Given the description of an element on the screen output the (x, y) to click on. 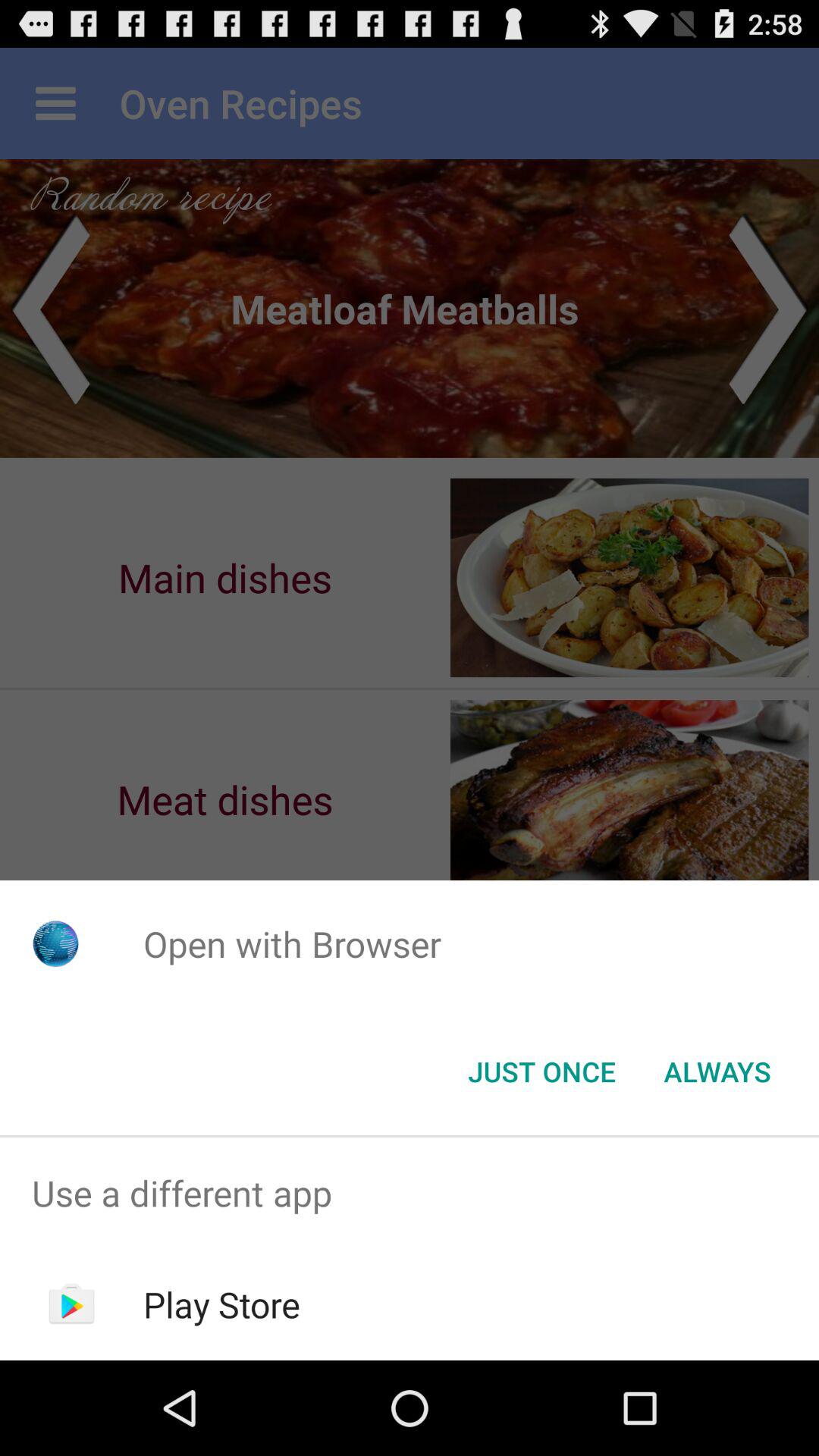
choose the just once button (541, 1071)
